Given the description of an element on the screen output the (x, y) to click on. 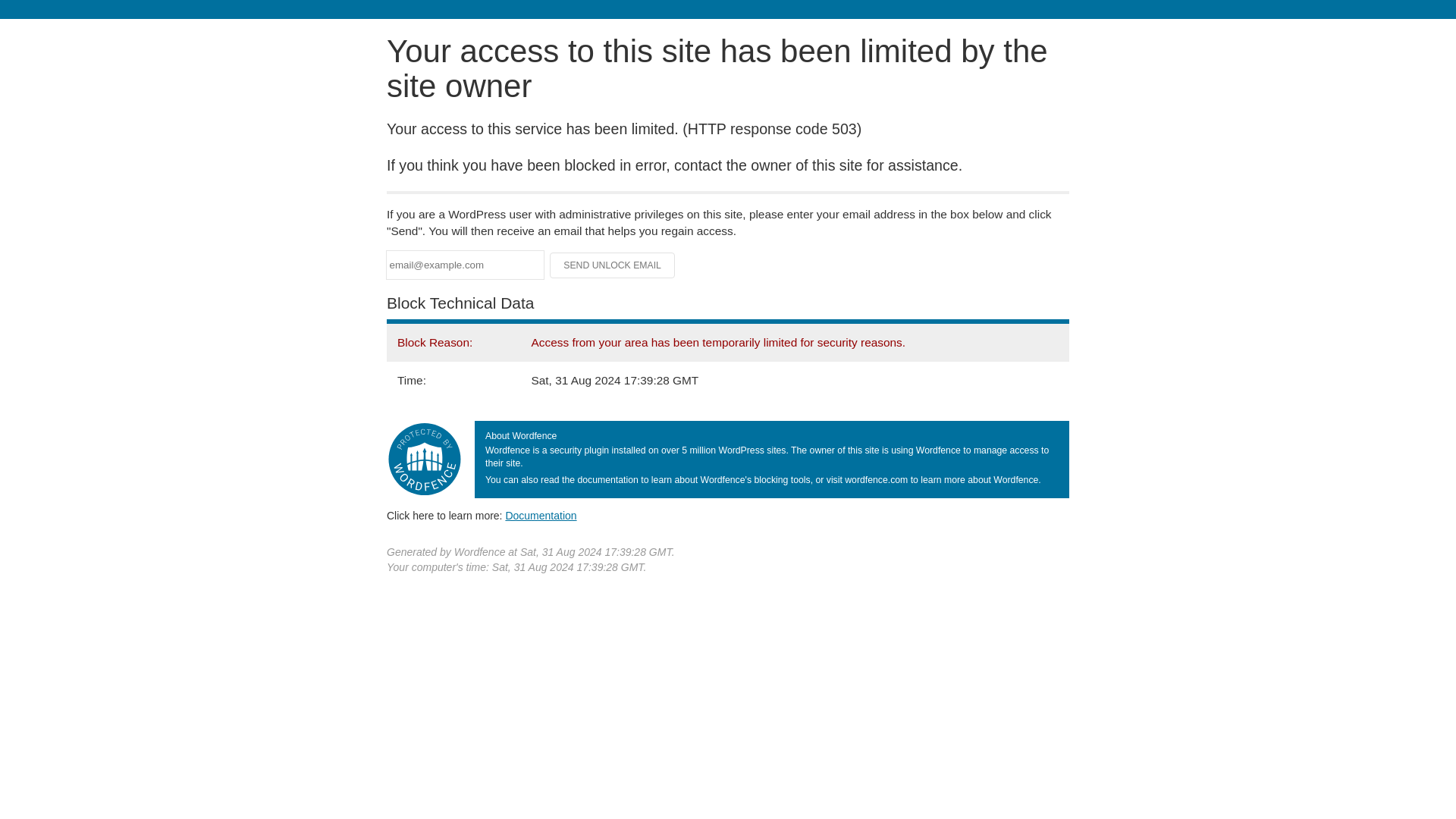
Documentation (540, 515)
Send Unlock Email (612, 265)
Send Unlock Email (612, 265)
